Given the description of an element on the screen output the (x, y) to click on. 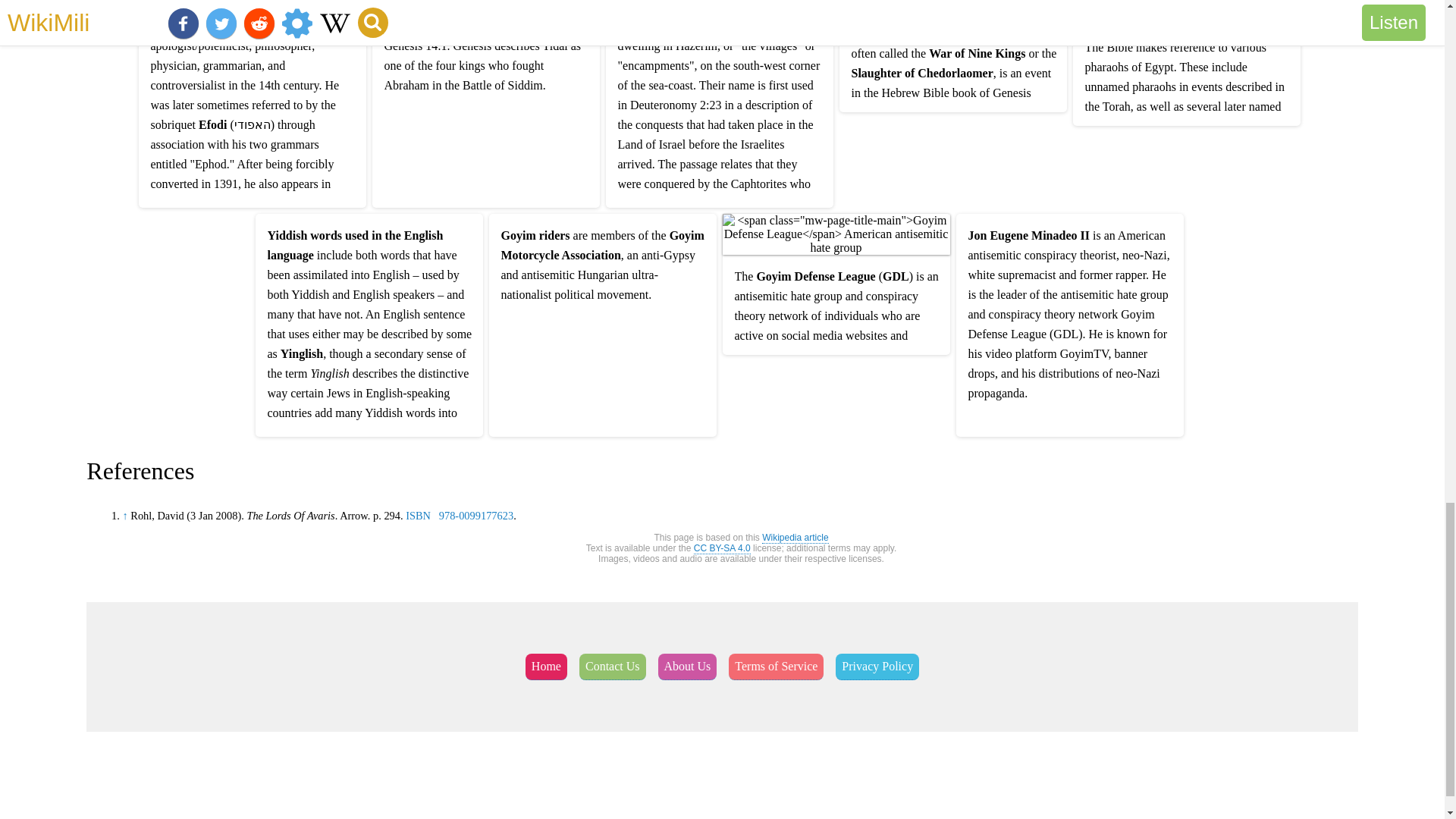
Terms of Service (776, 666)
Wikipedia article (794, 537)
Contact Us (612, 666)
CC BY-SA 4.0 (722, 548)
978-0099177623 (476, 515)
Home (546, 666)
About Us (687, 666)
ISBN (418, 515)
